Given the description of an element on the screen output the (x, y) to click on. 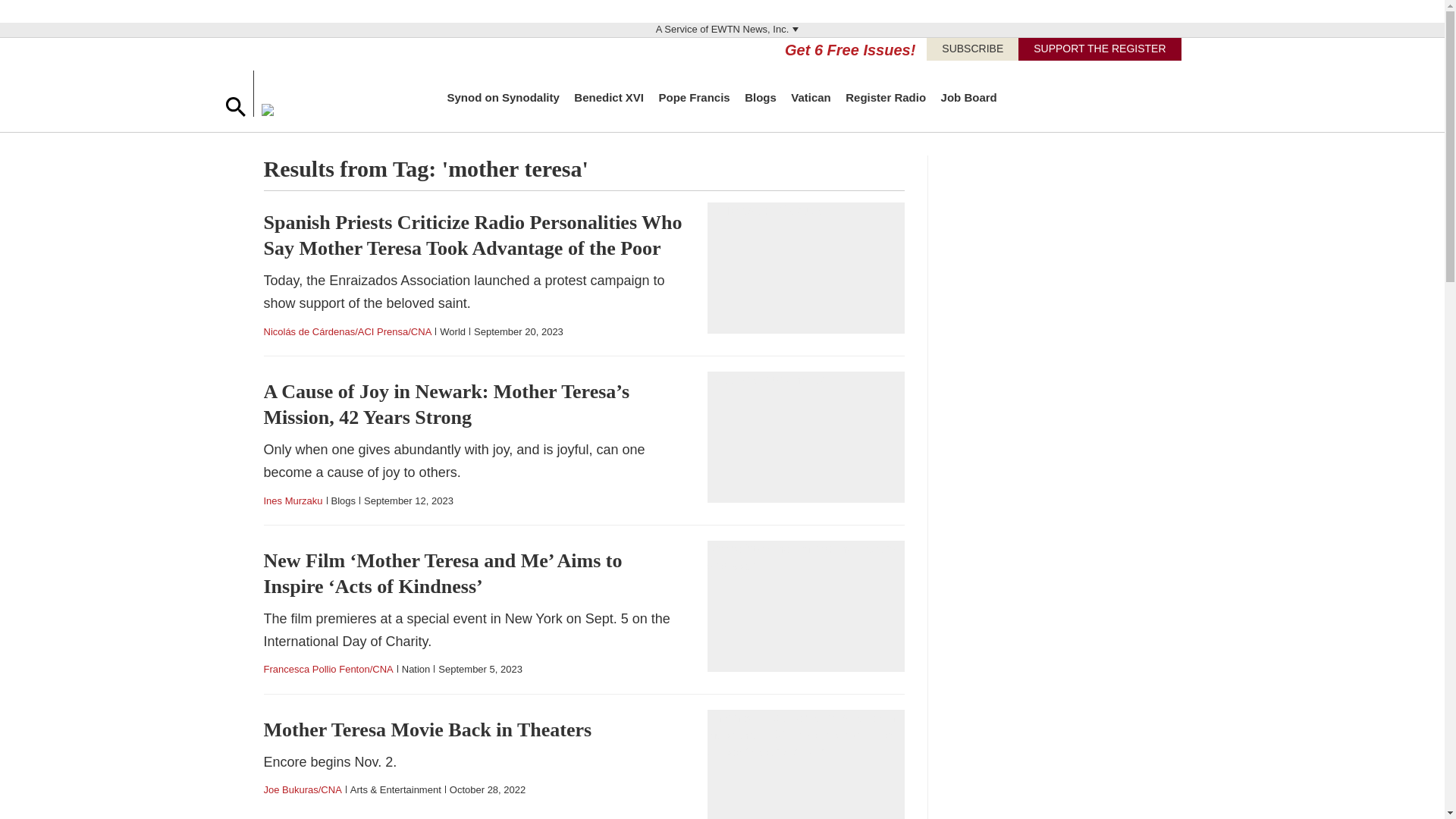
Vatican (810, 97)
SUBSCRIBE (971, 48)
Job Board (968, 97)
Pope Francis (693, 97)
Register Radio (885, 97)
Blogs (760, 97)
Benedict XVI (608, 97)
SUPPORT THE REGISTER (1098, 48)
Get 6 Free Issues! (849, 49)
